Given the description of an element on the screen output the (x, y) to click on. 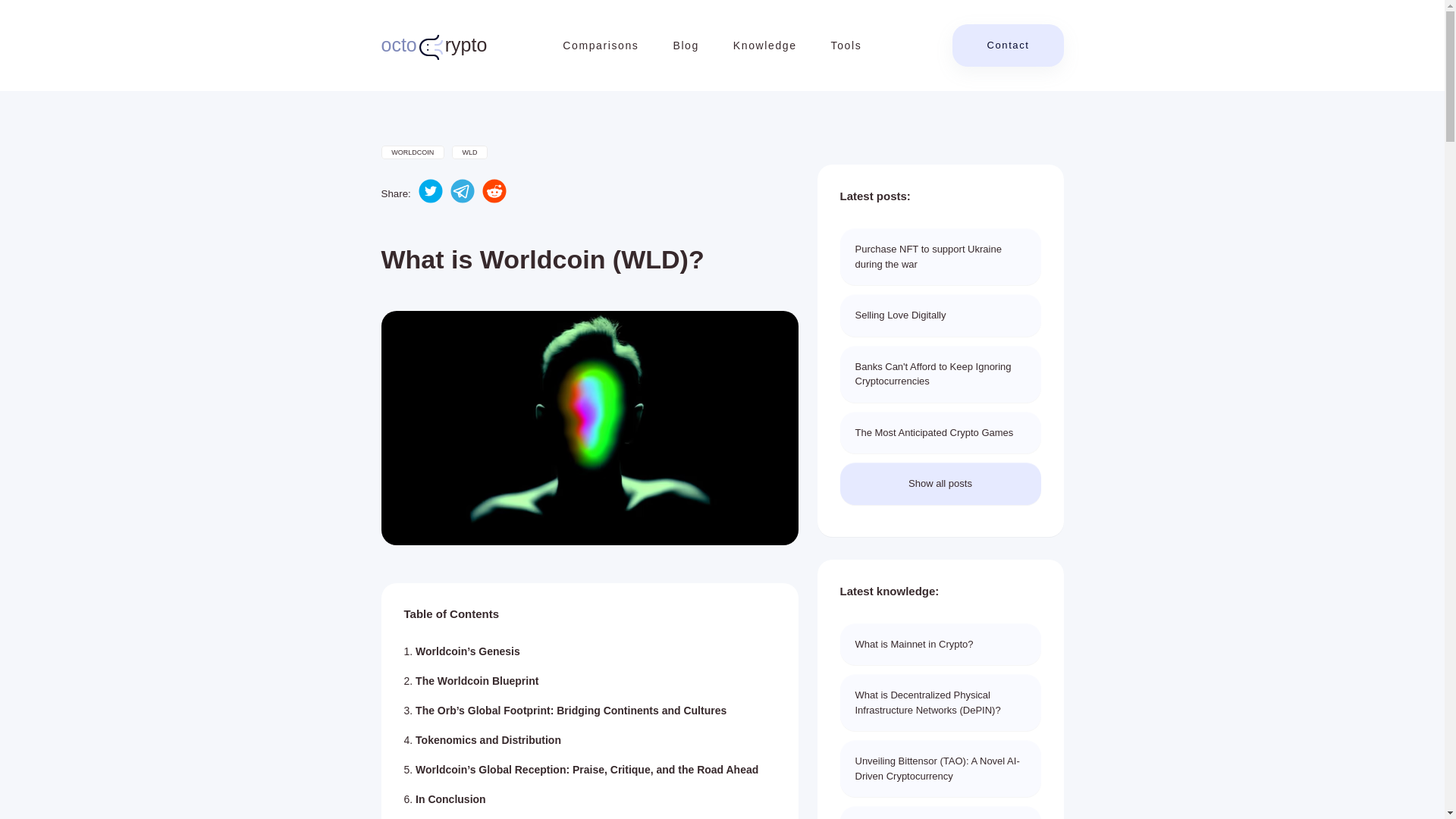
Comparisons (600, 45)
Tools (846, 45)
Exploring the Celestia Ecosystem and Its Native Token TIA (940, 812)
WORLDCOIN (412, 151)
Purchase NFT to support Ukraine during the war (433, 45)
Blog (940, 256)
Knowledge (685, 45)
What is Mainnet in Crypto? (764, 45)
The Most Anticipated Crypto Games (940, 644)
Contact (940, 432)
Show all posts (1007, 45)
Tokenomics and Distribution (940, 483)
In Conclusion (487, 739)
Banks Can't Afford to Keep Ignoring Cryptocurrencies (450, 799)
